Given the description of an element on the screen output the (x, y) to click on. 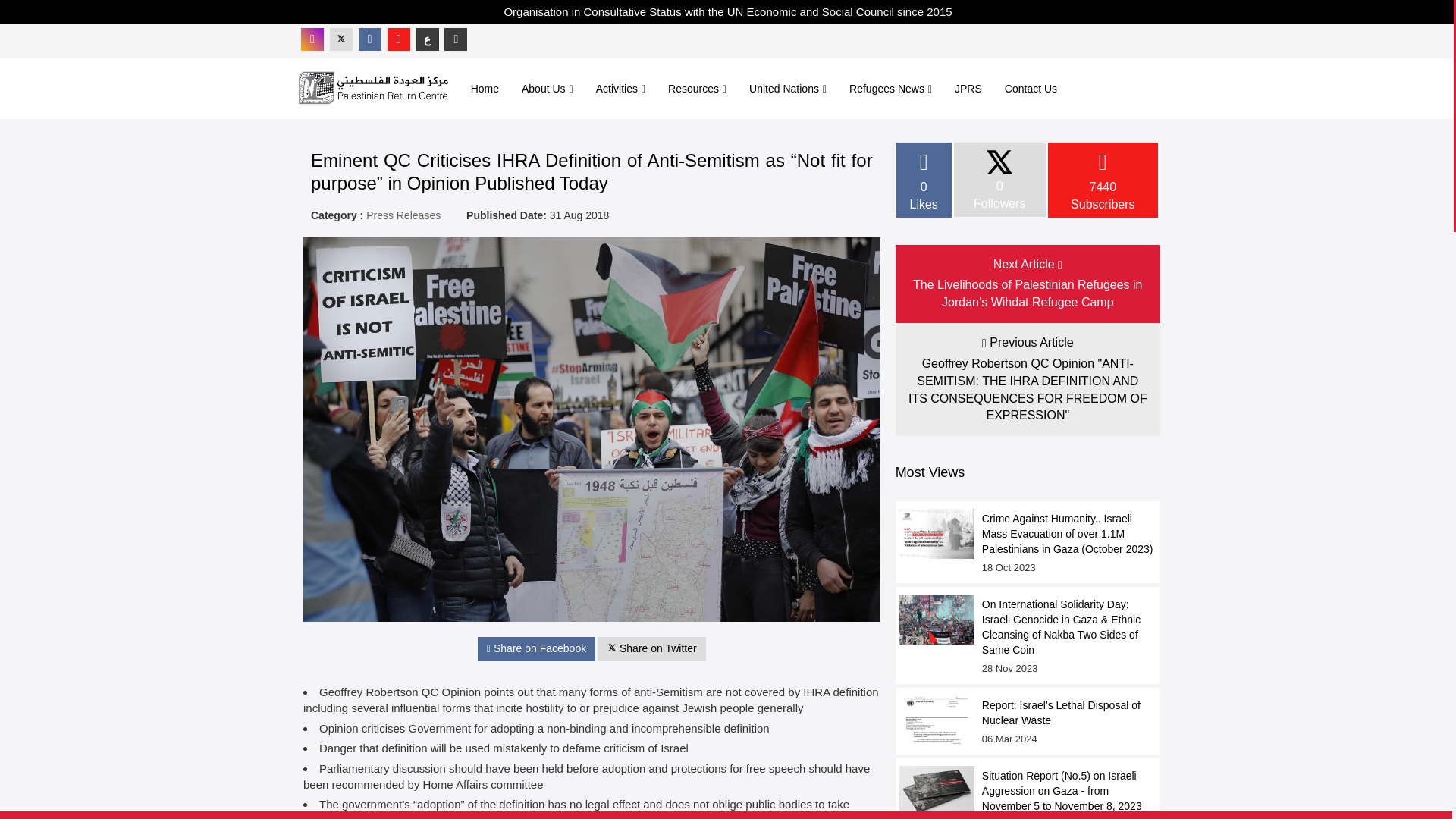
United Nations (788, 88)
Activities (620, 88)
Home (485, 88)
Refugees News (890, 88)
About Us (548, 88)
Arabic (427, 38)
Resources (697, 88)
